Given the description of an element on the screen output the (x, y) to click on. 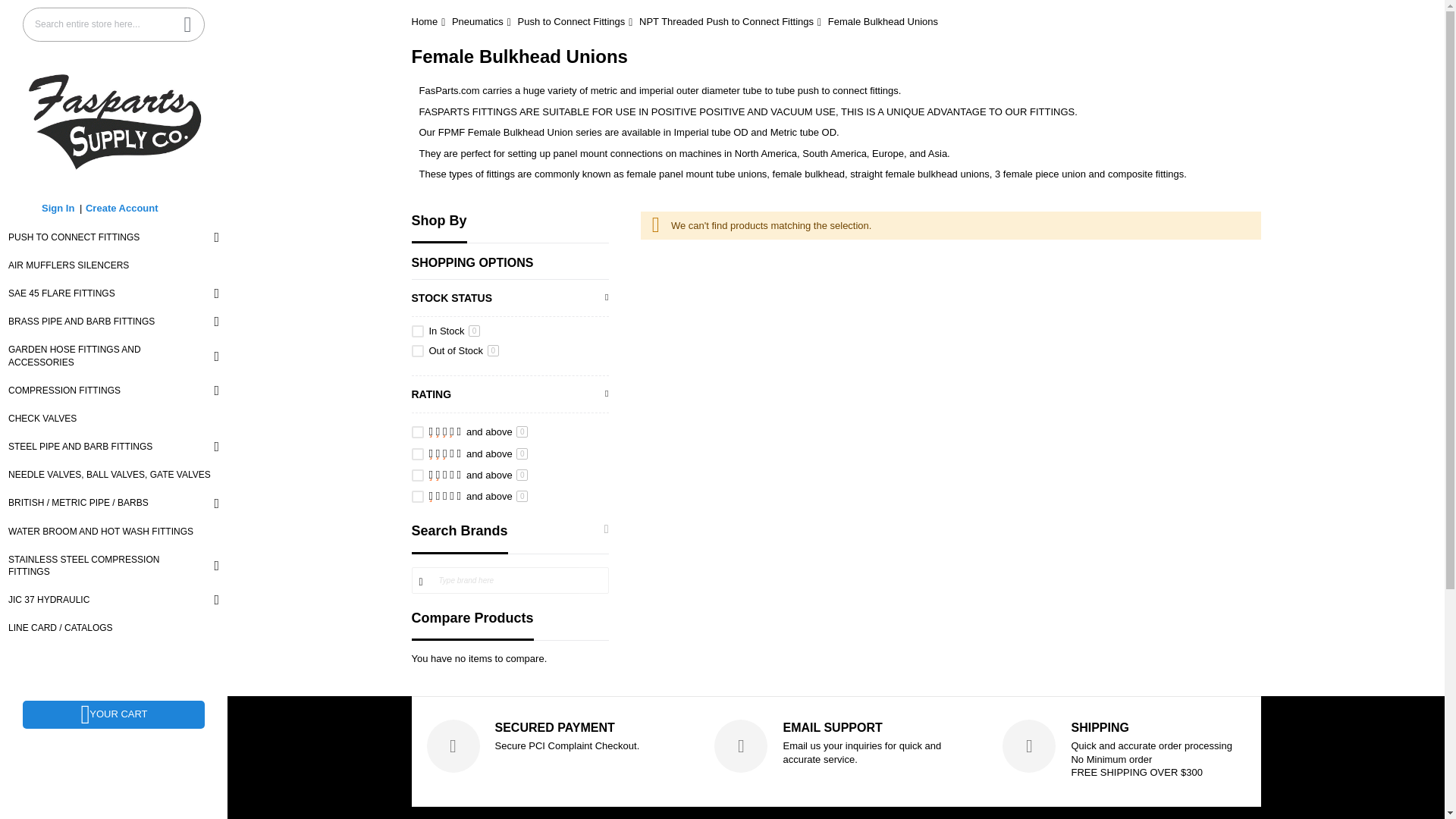
2 (416, 475)
4 stars and above (478, 431)
3 (416, 453)
3 stars and above (478, 453)
4 (416, 431)
PUSH TO CONNECT FITTINGS (114, 236)
Sign In (58, 207)
1 star and above (478, 496)
AIR MUFFLERS SILENCERS (114, 265)
Search (187, 24)
